Given the description of an element on the screen output the (x, y) to click on. 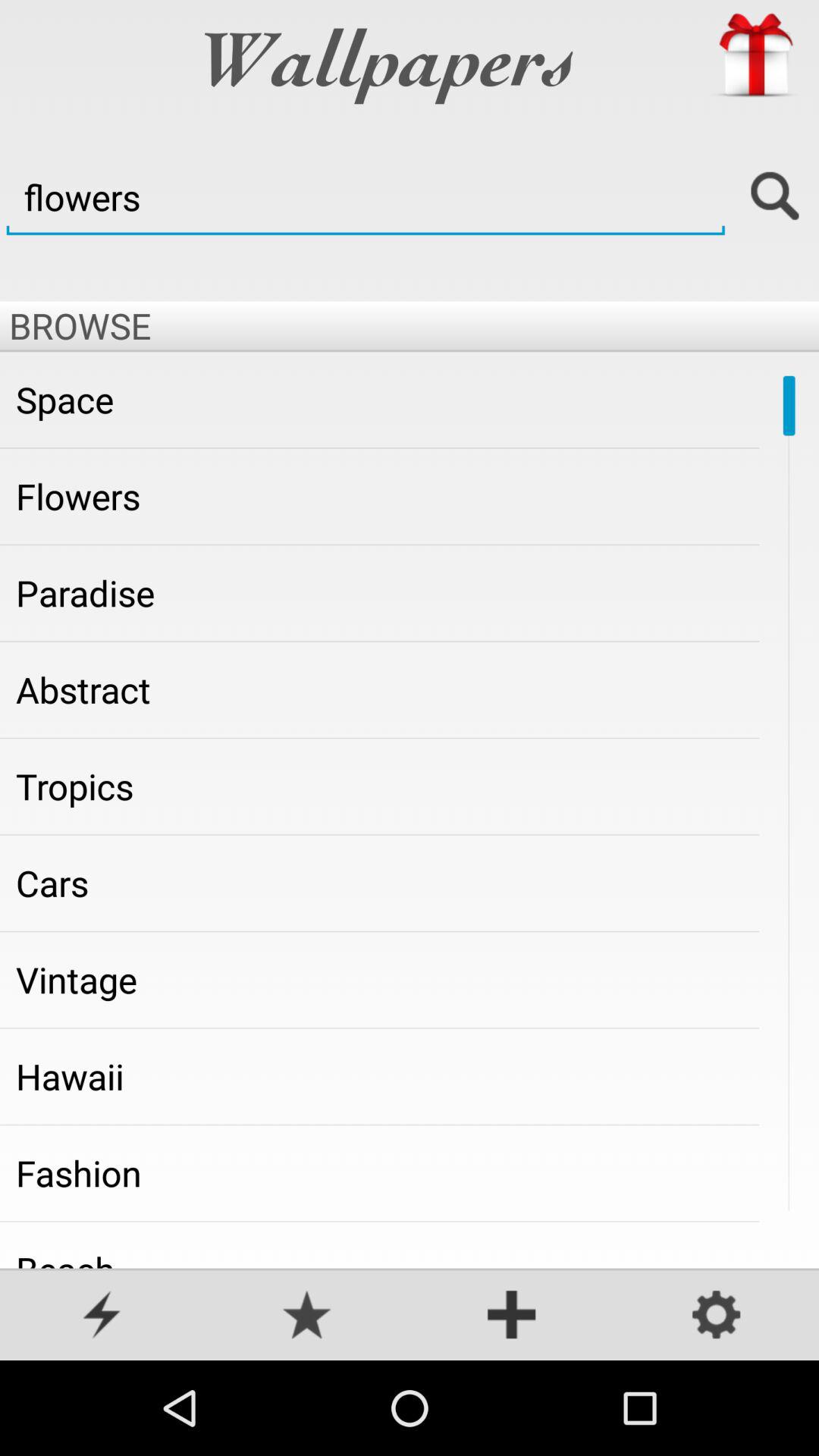
add button (511, 1316)
